Given the description of an element on the screen output the (x, y) to click on. 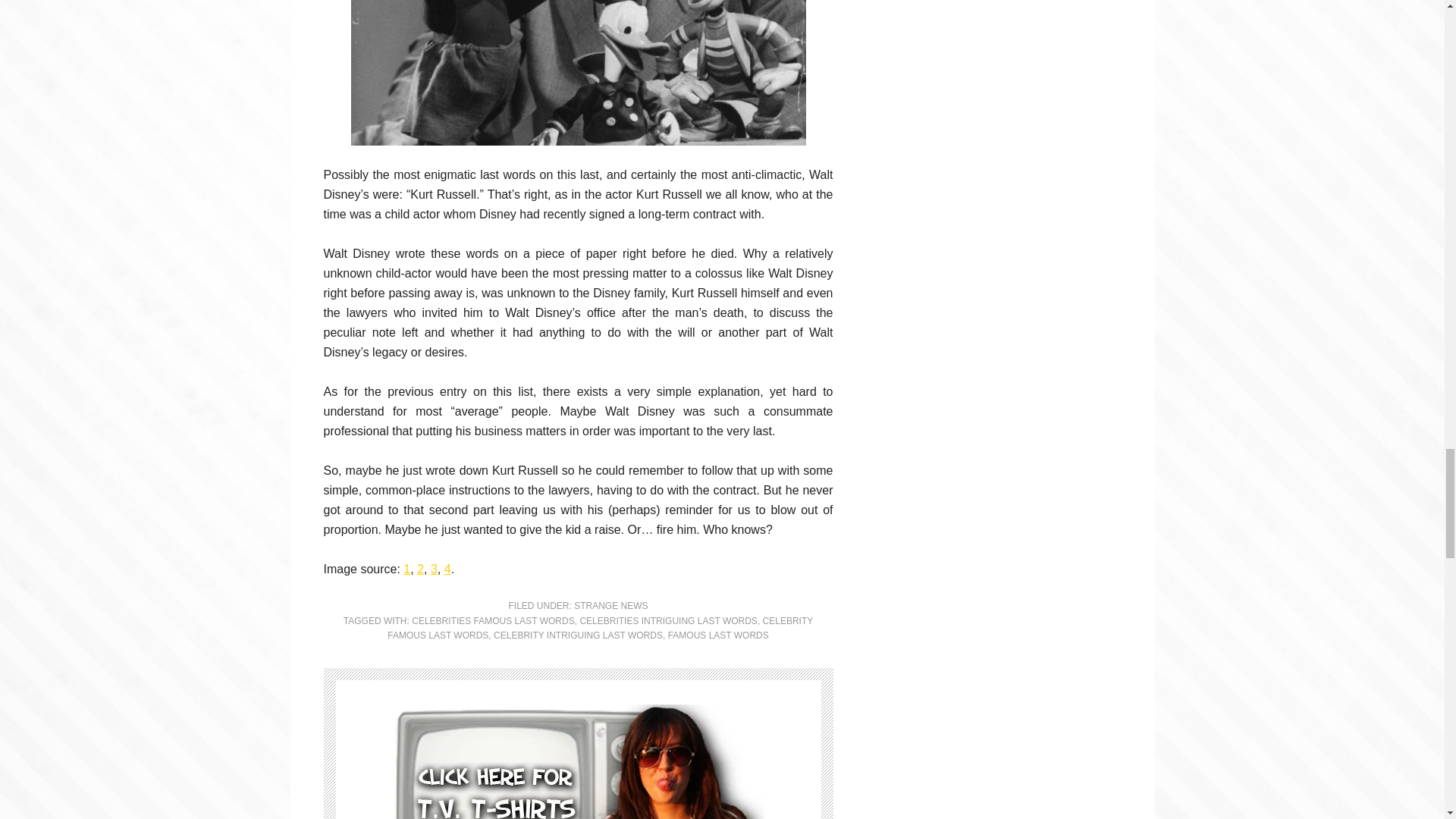
CELEBRITIES INTRIGUING LAST WORDS (668, 620)
CELEBRITIES FAMOUS LAST WORDS (493, 620)
STRANGE NEWS (610, 605)
CELEBRITY FAMOUS LAST WORDS (599, 628)
